Given the description of an element on the screen output the (x, y) to click on. 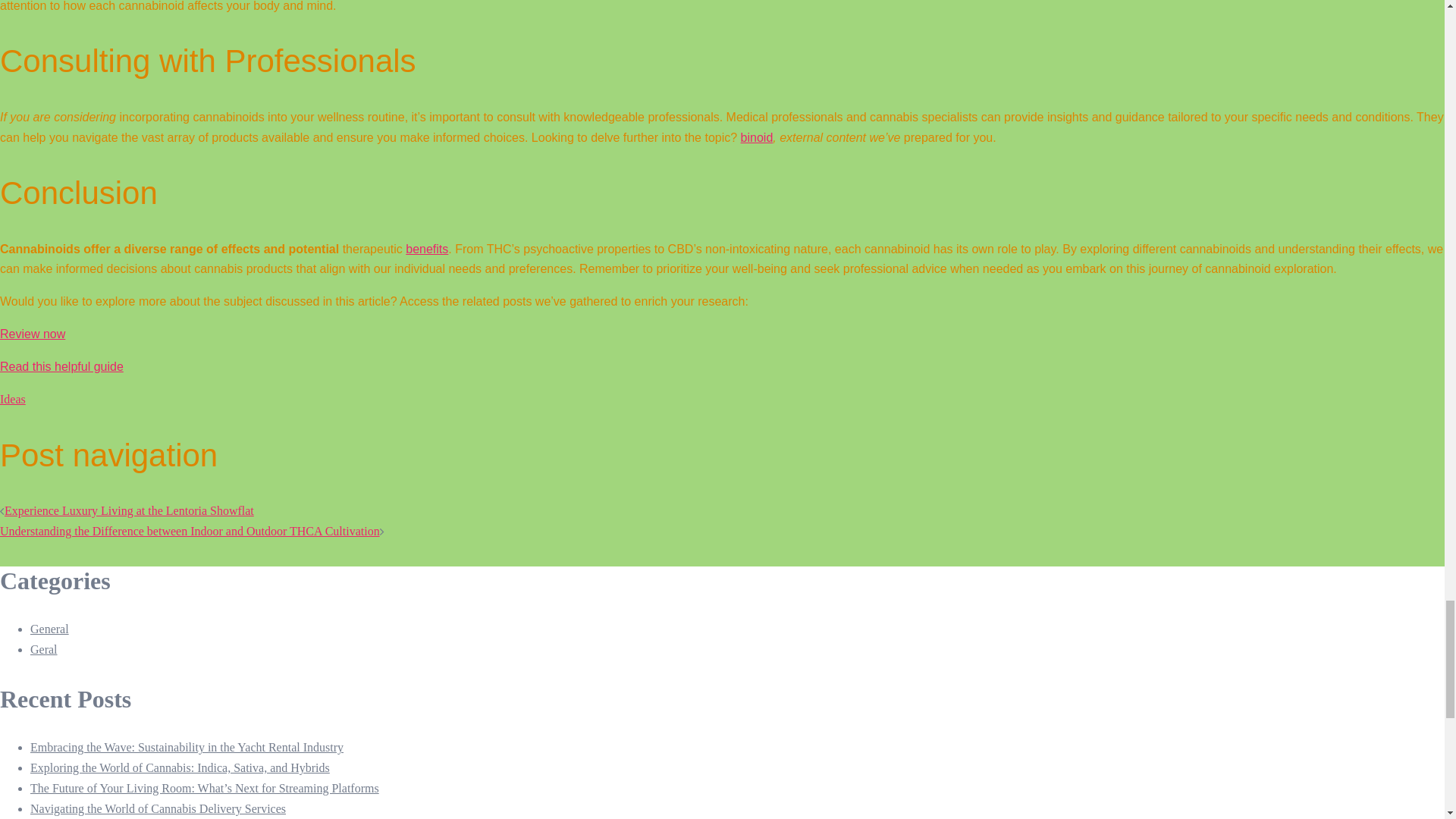
binoid (757, 137)
Review now (32, 333)
Exploring the World of Cannabis: Indica, Sativa, and Hybrids (180, 767)
Read this helpful guide (61, 366)
Experience Luxury Living at the Lentoria Showflat (128, 510)
Geral (44, 649)
Navigating the World of Cannabis Delivery Services (157, 808)
Ideas (13, 399)
